Given the description of an element on the screen output the (x, y) to click on. 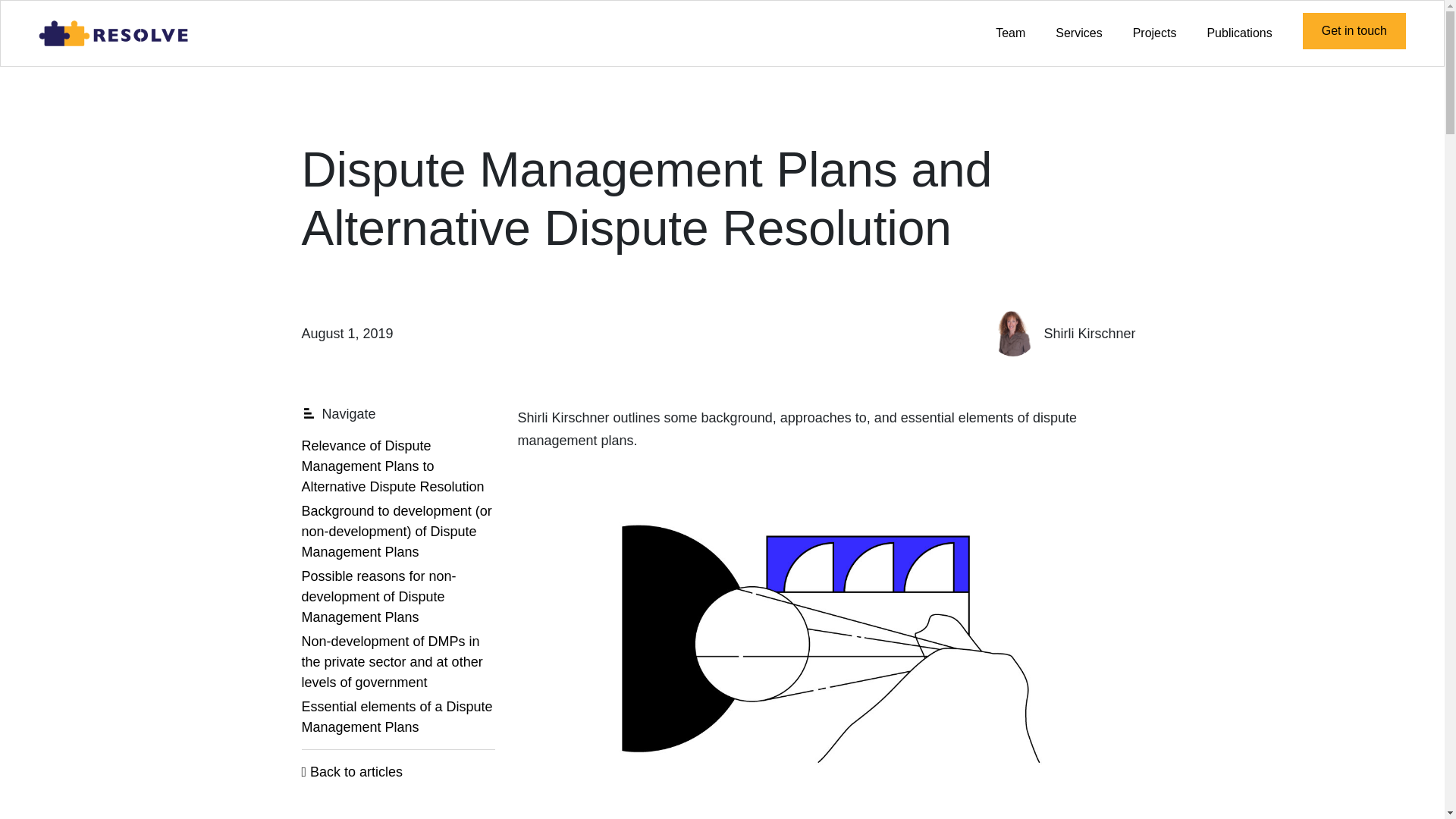
Publications (1239, 33)
Team (1010, 33)
Back to articles (352, 771)
Get in touch (1354, 31)
resolve-logo (114, 33)
Publications (1239, 33)
Services (1078, 33)
Team (1010, 33)
Get in touch (1354, 31)
Projects (1155, 33)
Services (1078, 33)
